Given the description of an element on the screen output the (x, y) to click on. 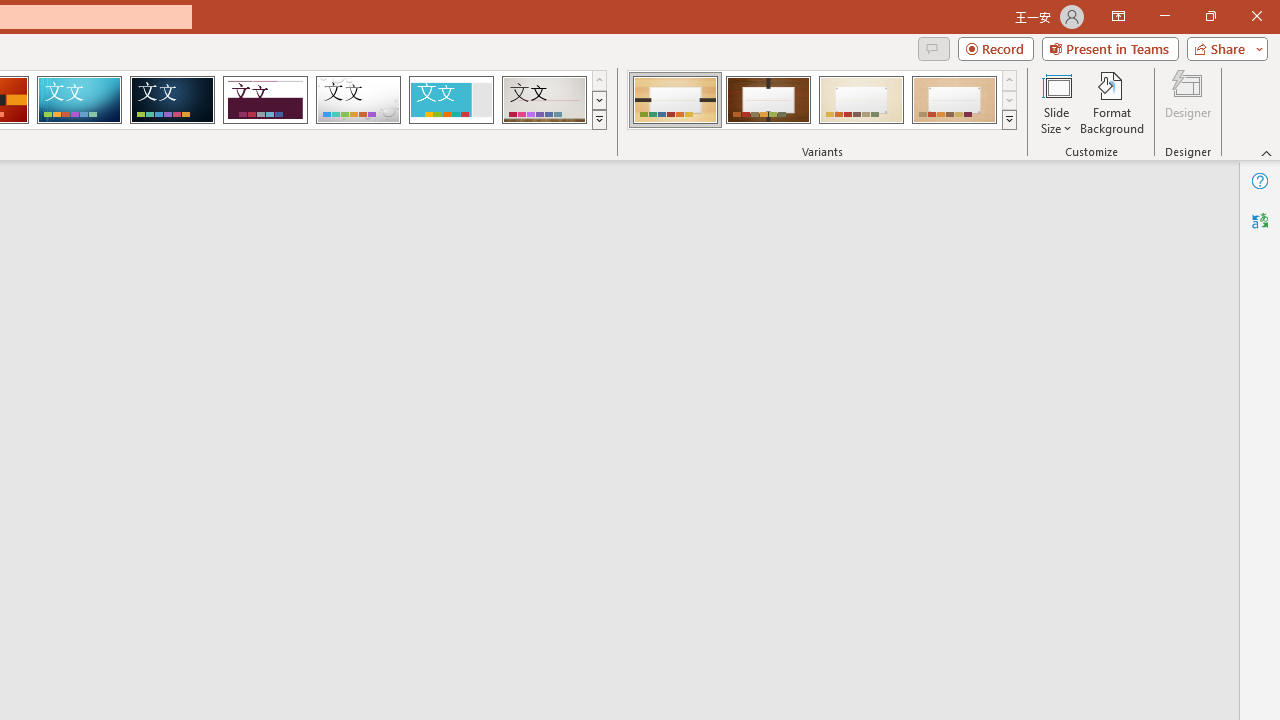
Dividend (265, 100)
Frame (450, 100)
Organic Variant 2 (768, 100)
Droplet (358, 100)
Organic Variant 3 (861, 100)
Damask (171, 100)
AutomationID: ThemeVariantsGallery (822, 99)
